Given the description of an element on the screen output the (x, y) to click on. 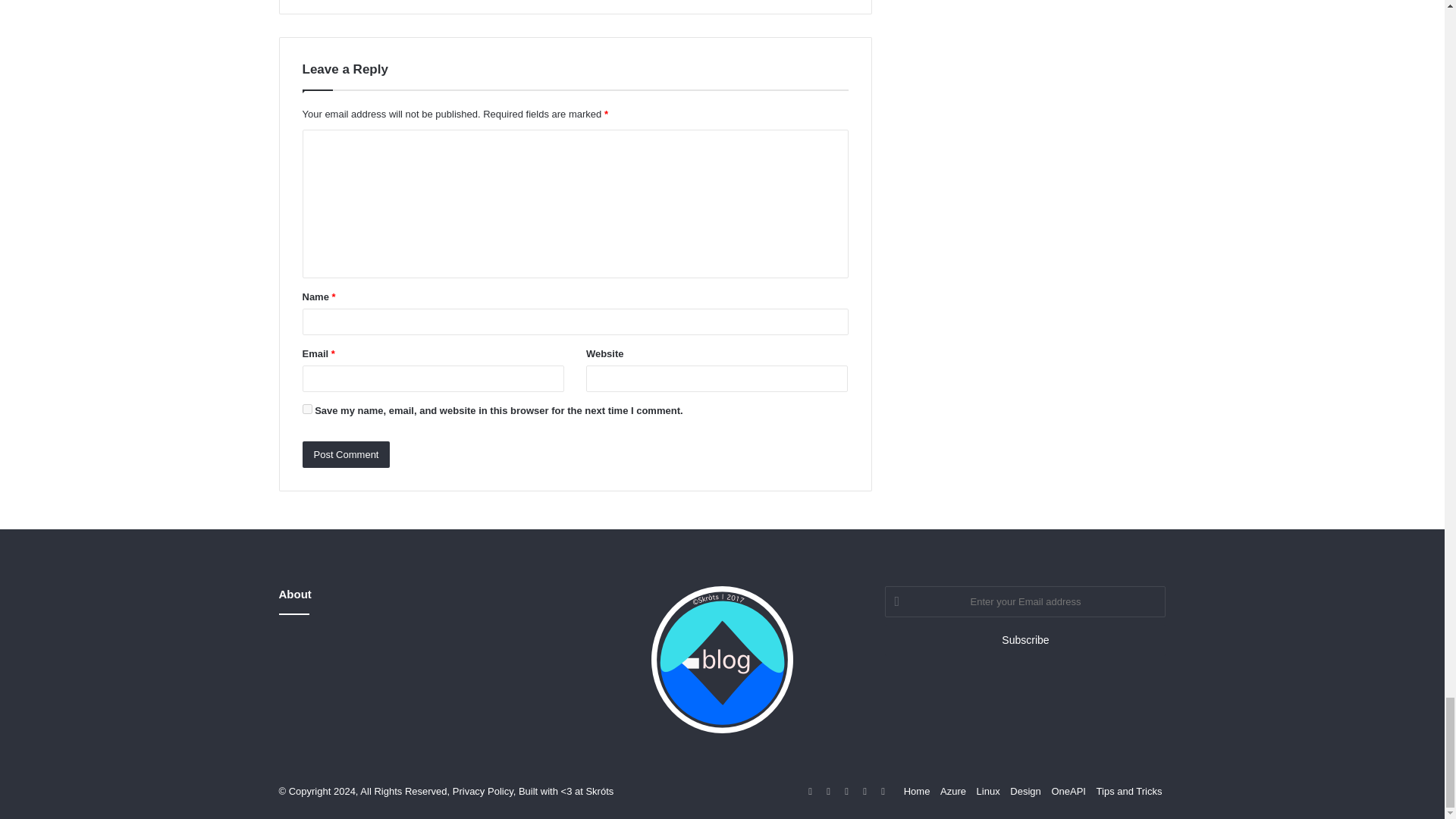
yes (306, 409)
Subscribe (1025, 640)
Post Comment (345, 454)
